Given the description of an element on the screen output the (x, y) to click on. 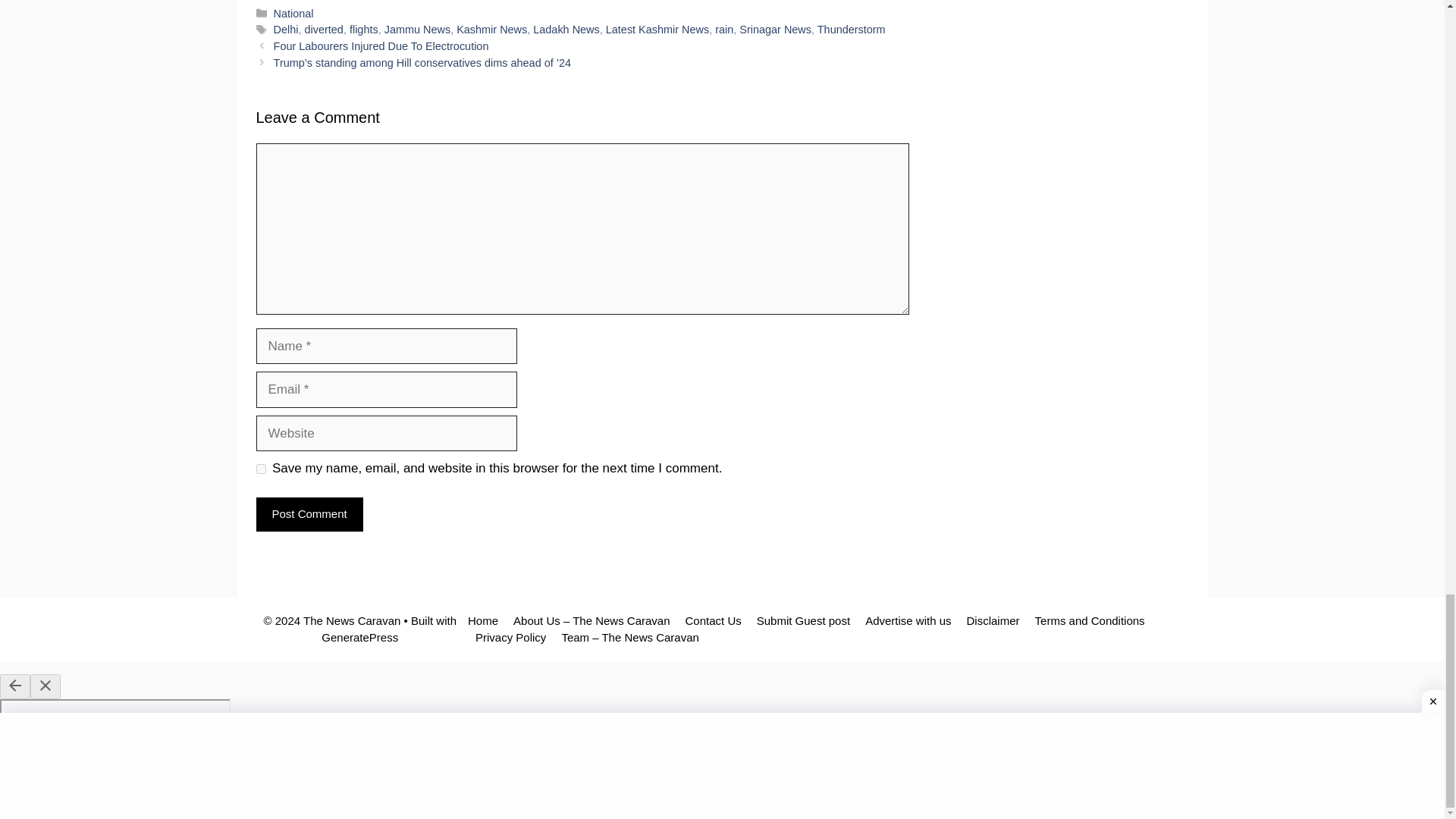
Post Comment (309, 514)
Srinagar News (774, 29)
diverted (323, 29)
Post Comment (309, 514)
Thunderstorm (850, 29)
Disclaimer (993, 620)
Terms and Conditions (1089, 620)
rain (723, 29)
Contact Us (713, 620)
Delhi (285, 29)
